Given the description of an element on the screen output the (x, y) to click on. 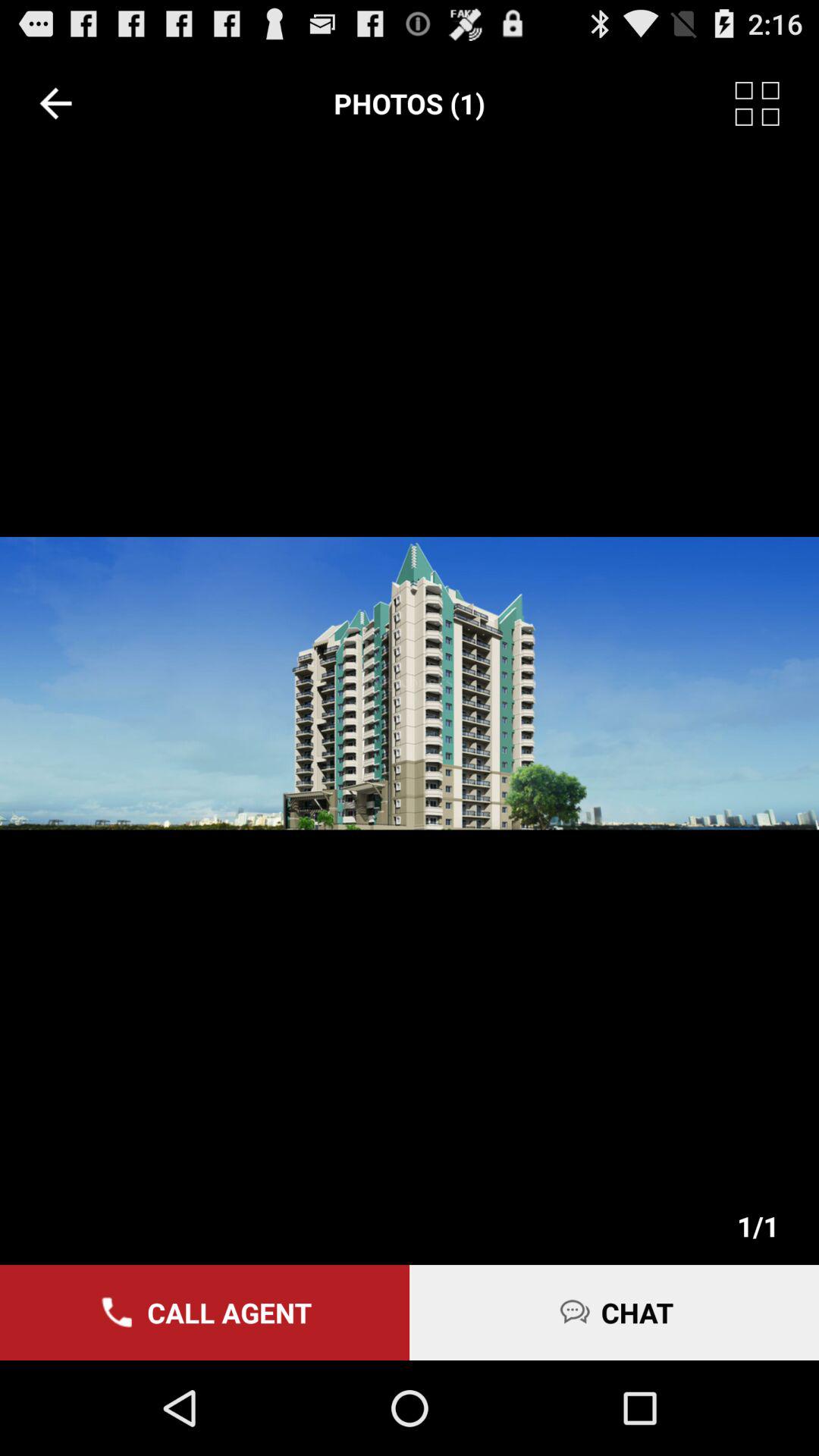
click icon at the top right corner (777, 103)
